Given the description of an element on the screen output the (x, y) to click on. 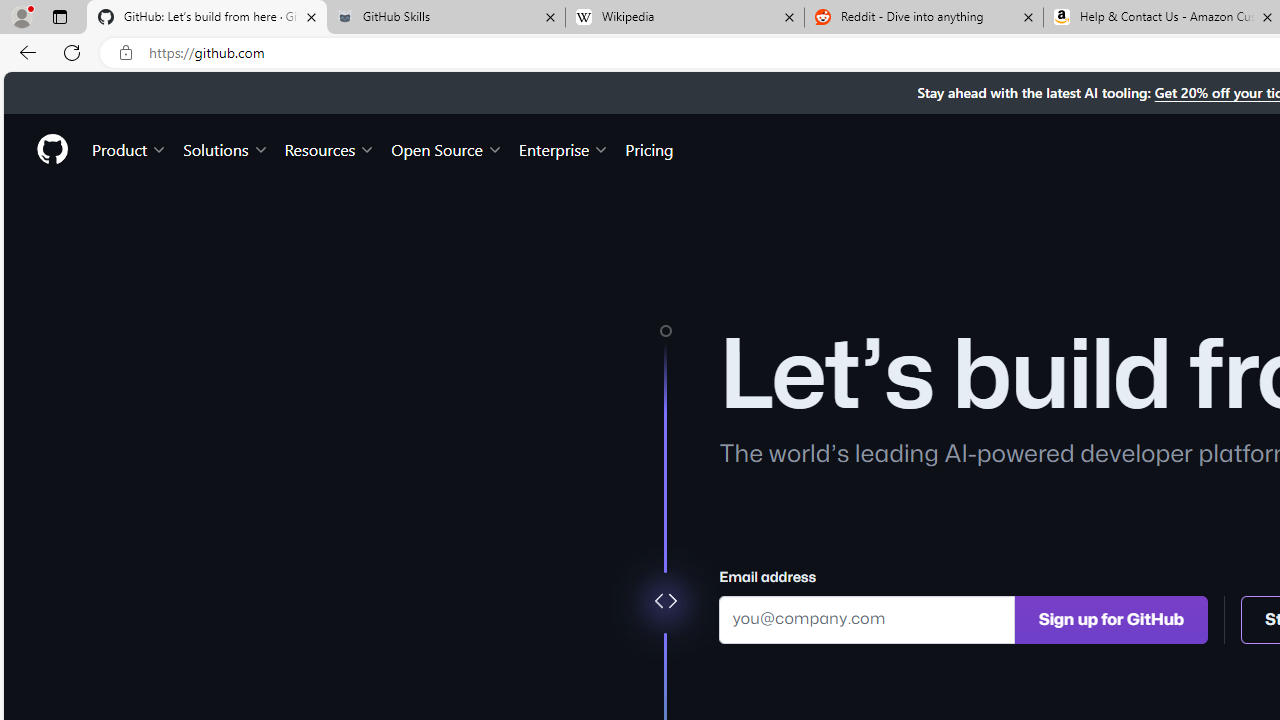
Pricing (649, 148)
Resources (330, 148)
Solutions (225, 148)
Pricing (649, 148)
Open Source (446, 148)
Resources (330, 148)
Enterprise (563, 148)
Reddit - Dive into anything (924, 17)
Sign up for GitHub (1111, 618)
